Given the description of an element on the screen output the (x, y) to click on. 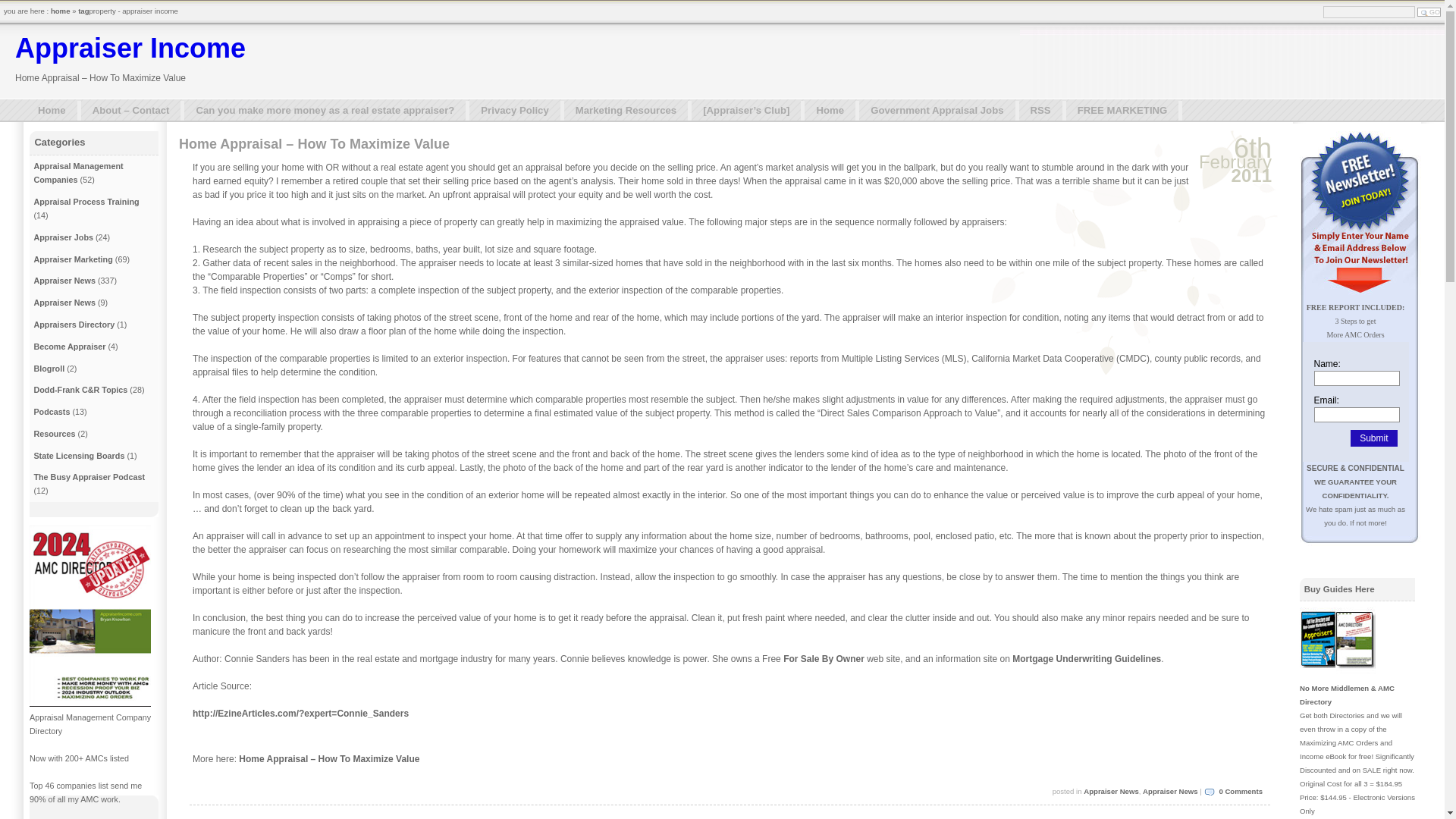
Appraisal Management Companies (77, 172)
Appraiser News (1170, 791)
For Sale By Owner (823, 658)
Become Appraiser (68, 346)
Home (832, 110)
Appraiser News (64, 302)
Home (53, 110)
Mortgage Underwriting Guidelines (1085, 658)
Can you make more money as a real estate appraiser? (326, 110)
GO (1428, 11)
